Given the description of an element on the screen output the (x, y) to click on. 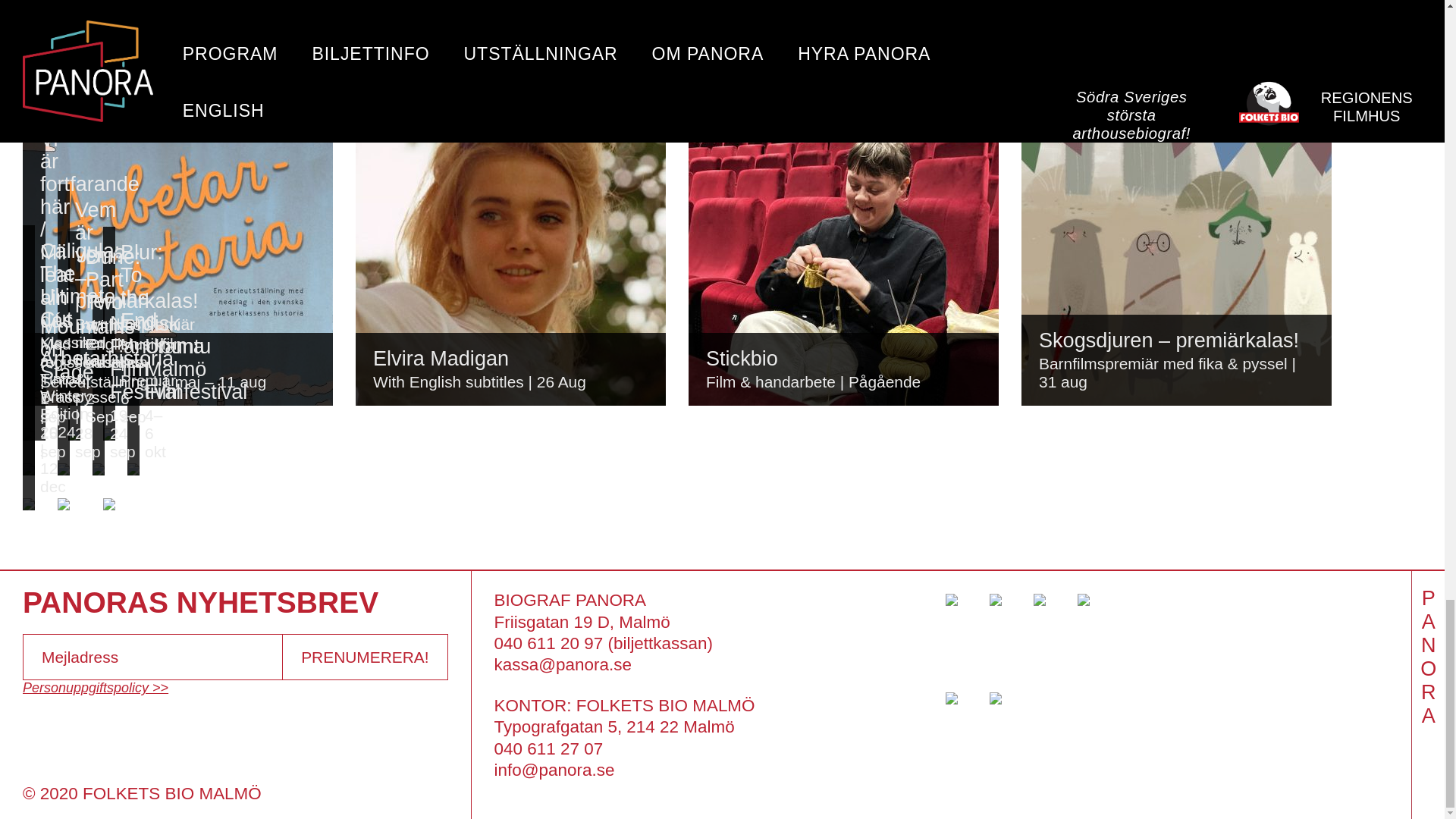
PRENUMERERA! (364, 656)
